Given the description of an element on the screen output the (x, y) to click on. 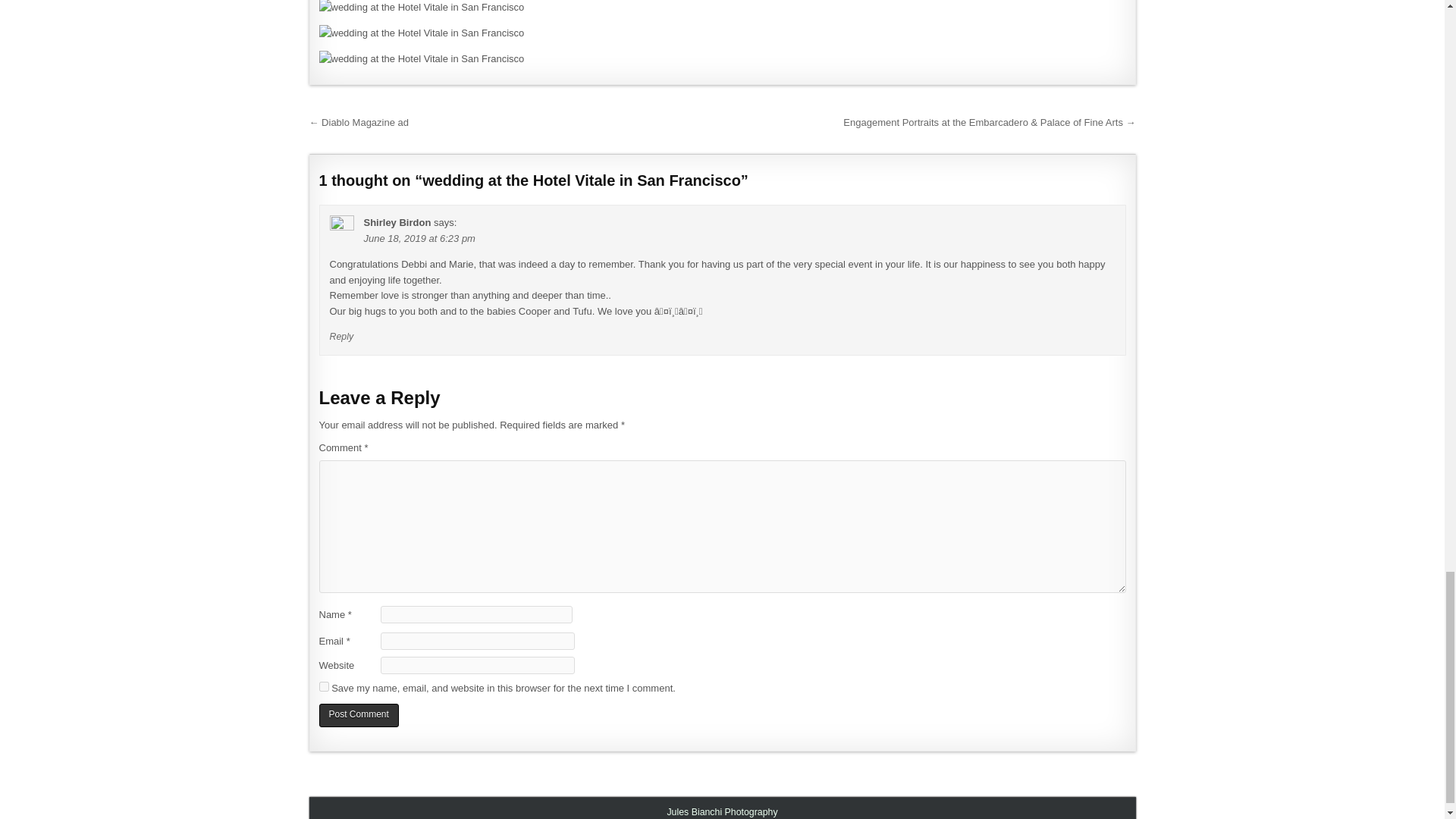
June 18, 2019 at 6:23 pm (420, 238)
yes (323, 686)
Reply (341, 336)
Post Comment (357, 715)
Post Comment (357, 715)
